Given the description of an element on the screen output the (x, y) to click on. 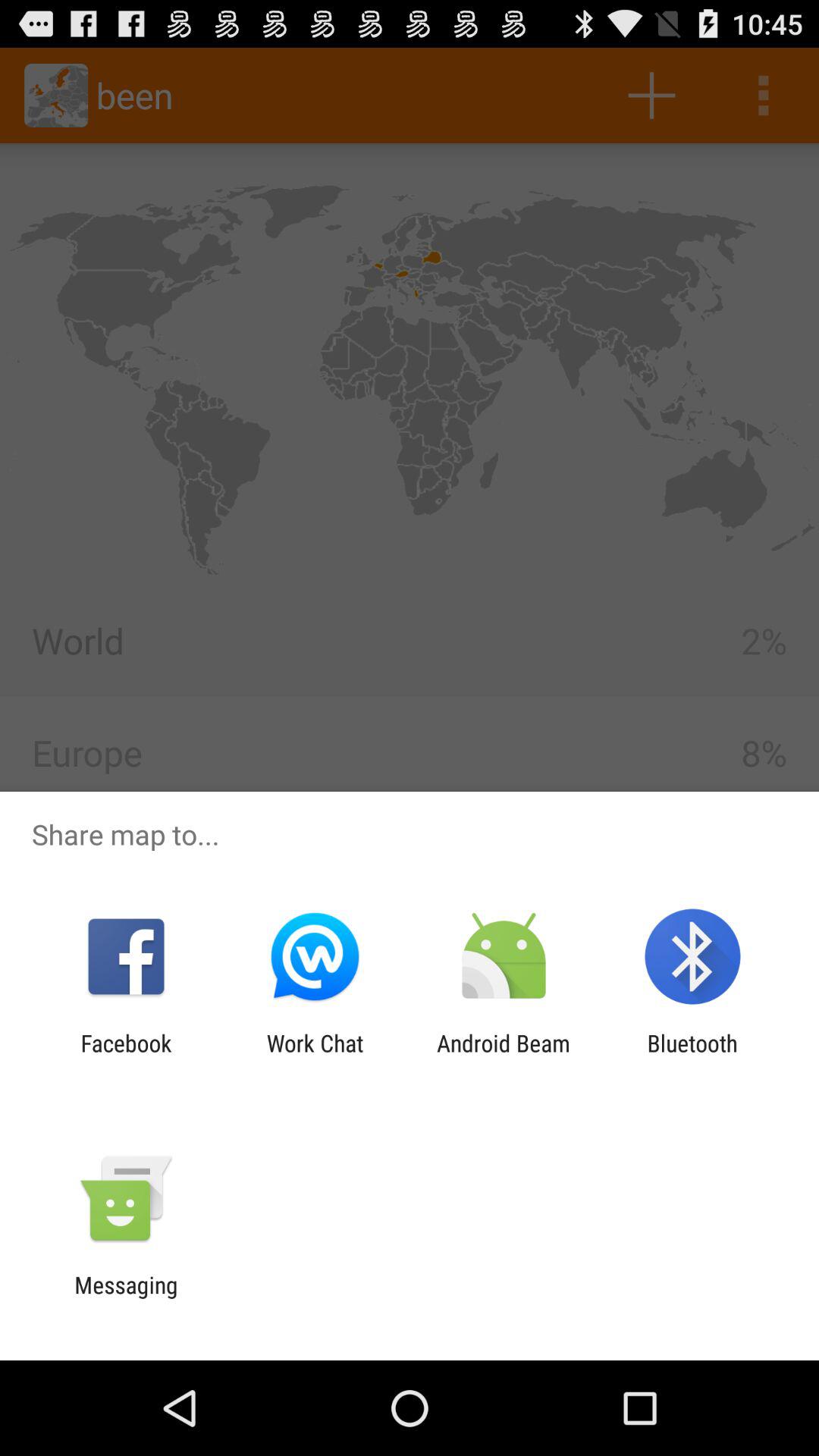
select the icon at the bottom right corner (692, 1056)
